Given the description of an element on the screen output the (x, y) to click on. 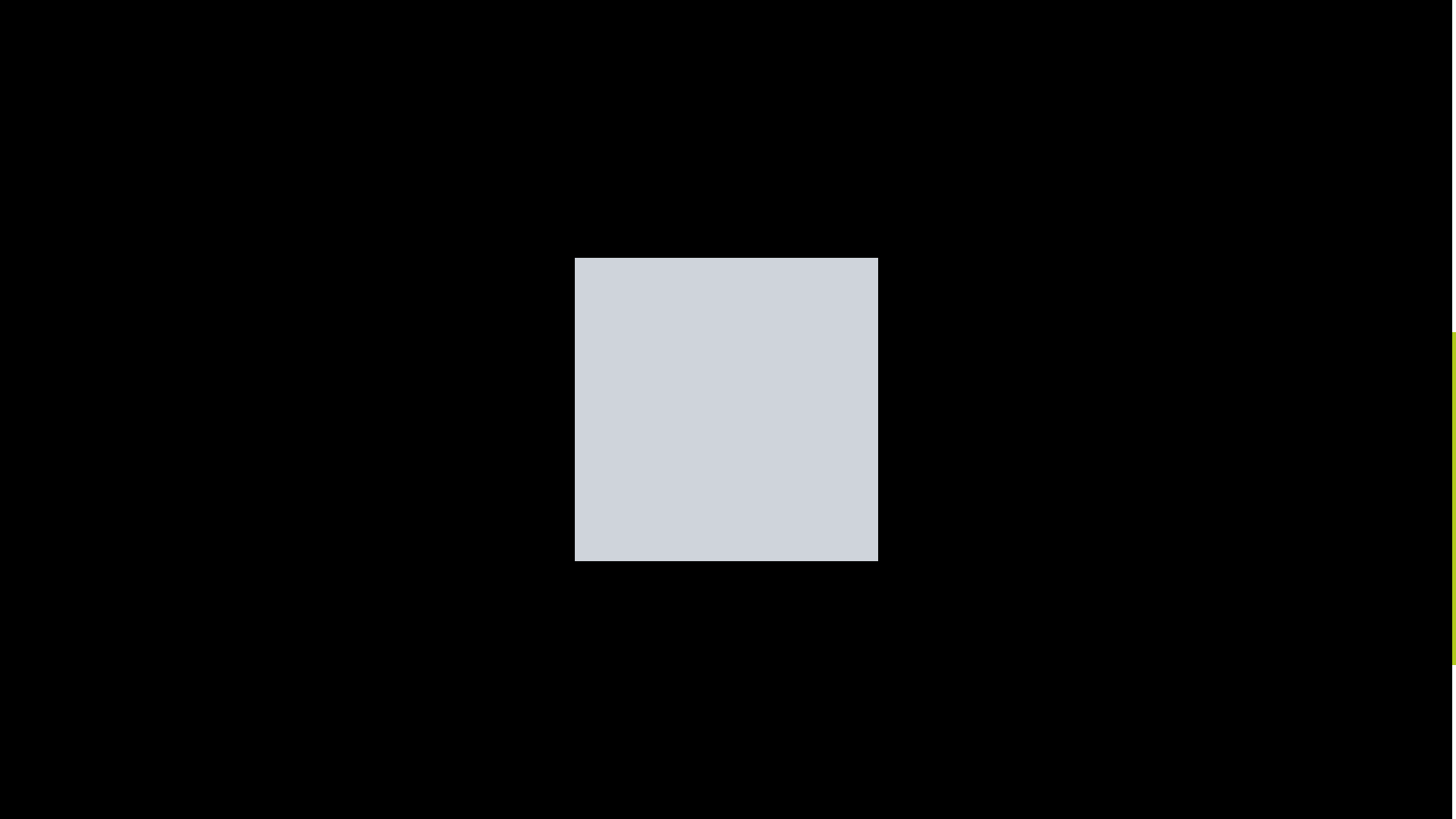
Indian Air Force (854, 227)
Indian navy (1058, 207)
leadership (665, 748)
Indian army (416, 187)
hard work (725, 594)
